Given the description of an element on the screen output the (x, y) to click on. 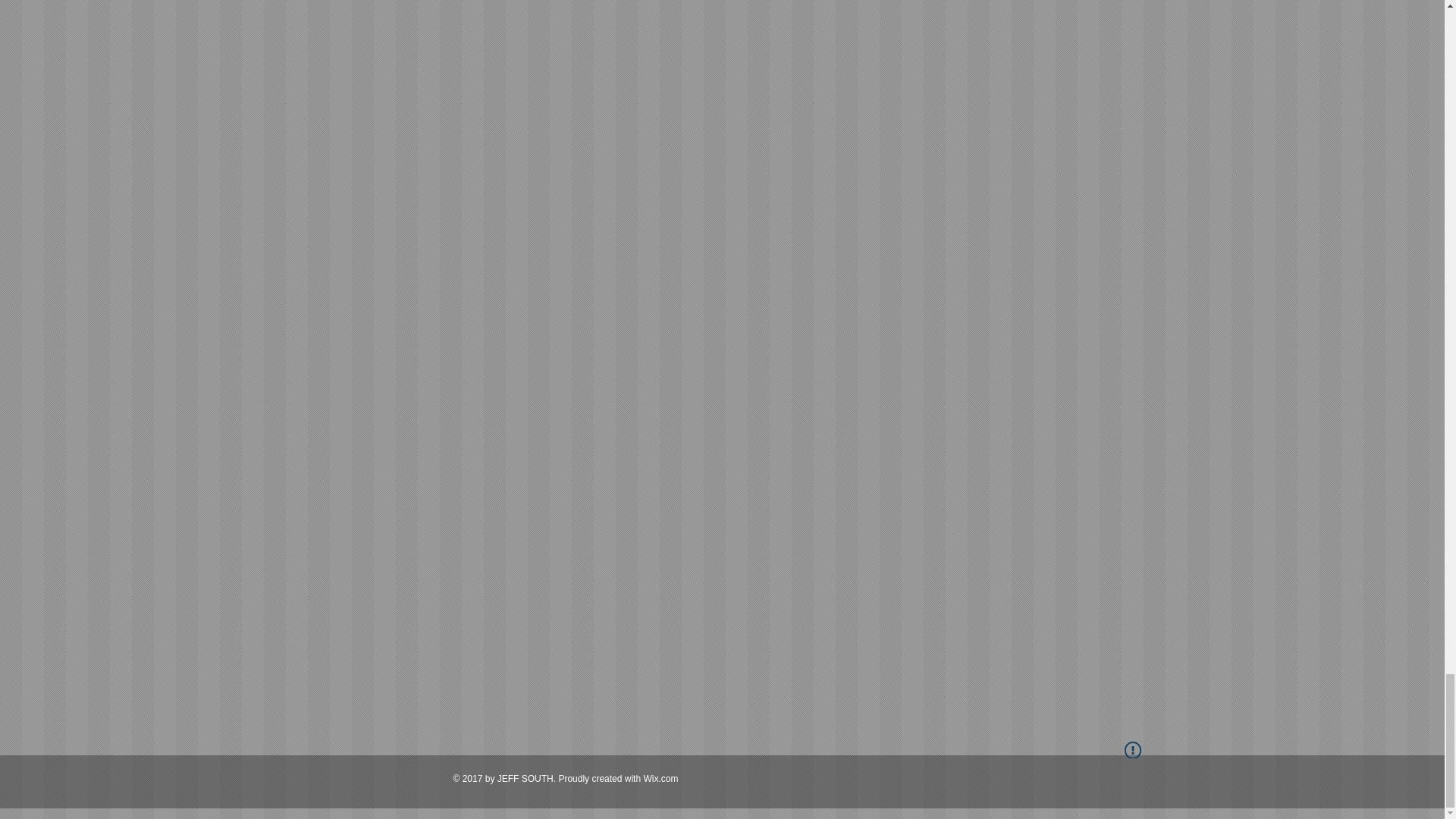
Wix.com (660, 778)
